Given the description of an element on the screen output the (x, y) to click on. 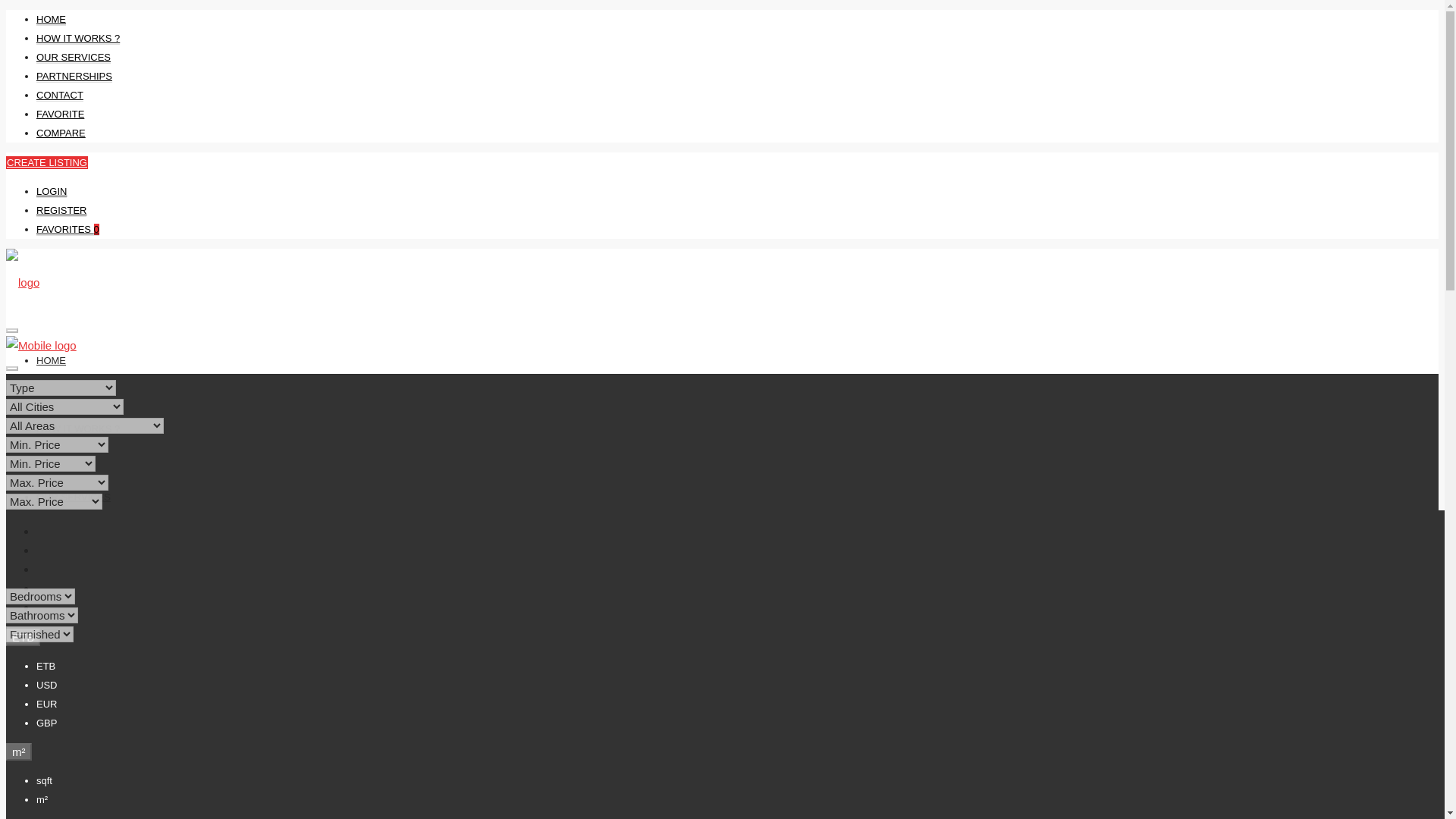
Min. Price (50, 463)
air-condition (13, 690)
Min. Price (56, 444)
HOW IT WORKS ? (77, 38)
CONTACT (59, 95)
HOW IT WORKS ? (77, 428)
REGISTER (60, 210)
Bathrooms (41, 615)
COMPARE (479, 770)
balcony (90, 690)
